Given the description of an element on the screen output the (x, y) to click on. 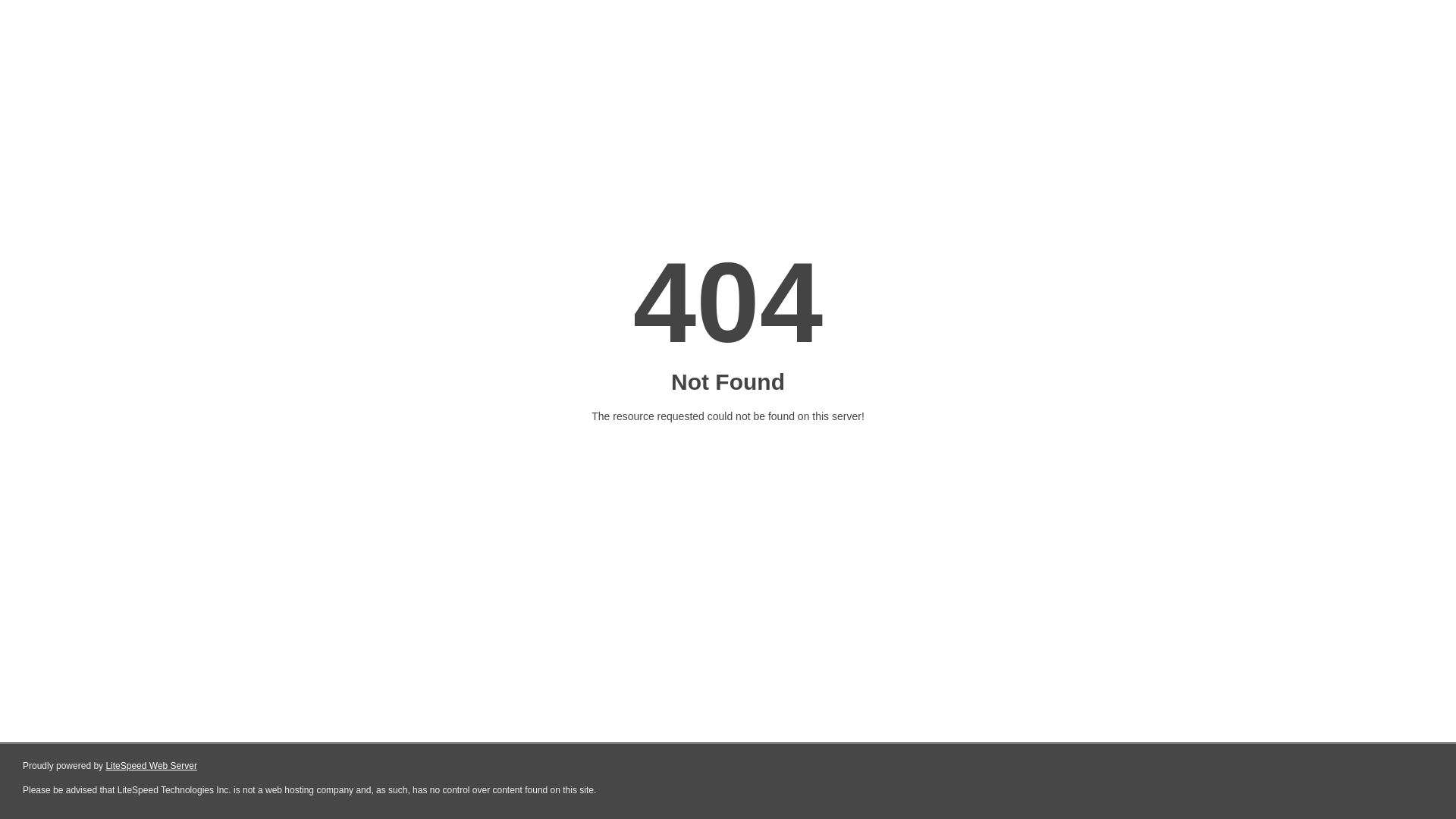
LiteSpeed Web Server Element type: text (151, 765)
